Given the description of an element on the screen output the (x, y) to click on. 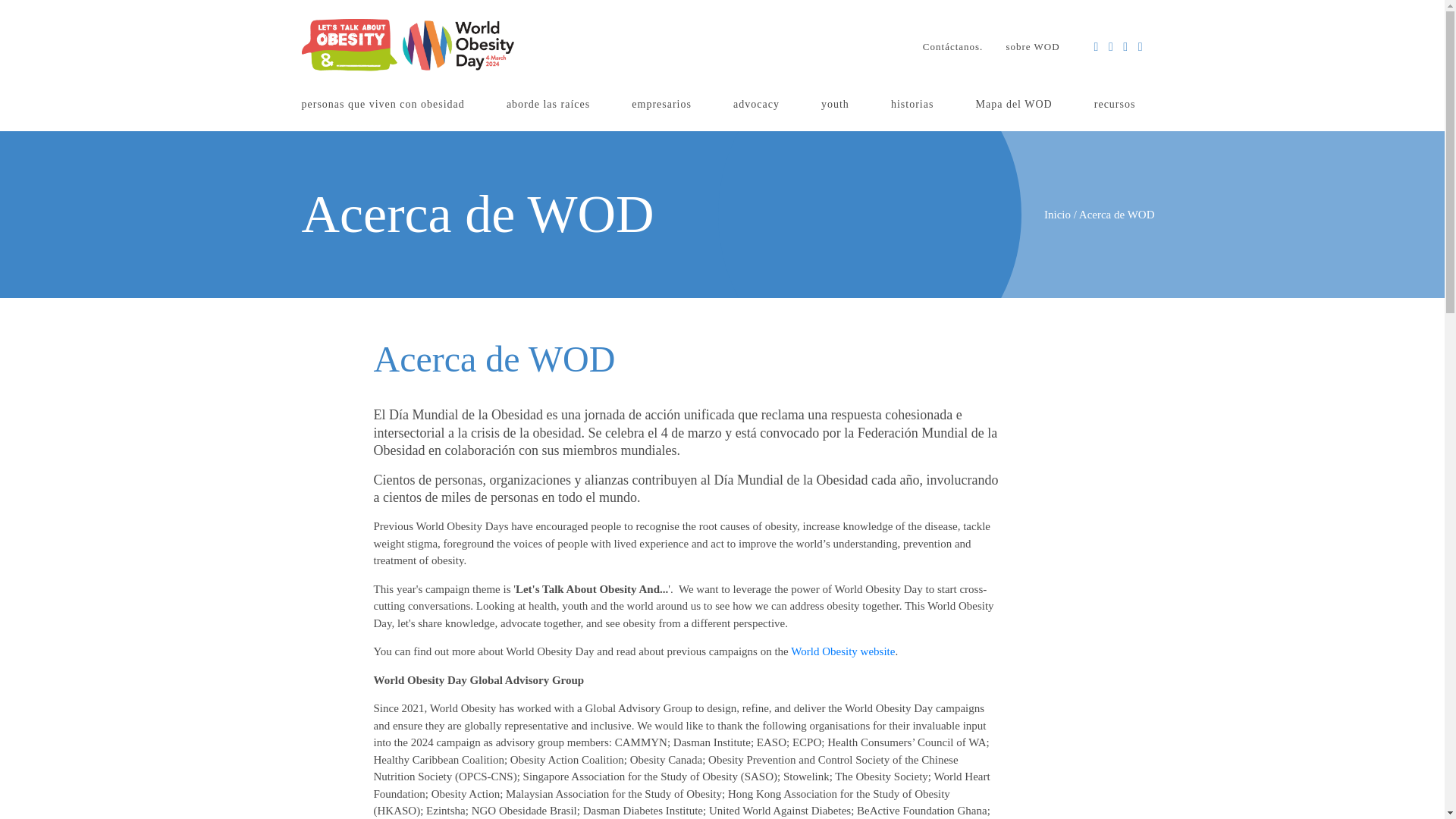
advocacy (756, 104)
World Obesity website (842, 651)
sobre WOD (1032, 46)
youth (835, 104)
Mapa del WOD (1013, 104)
personas que viven con obesidad (382, 104)
recursos (1114, 104)
historias (911, 104)
Inicio (1056, 214)
empresarios (661, 104)
